Given the description of an element on the screen output the (x, y) to click on. 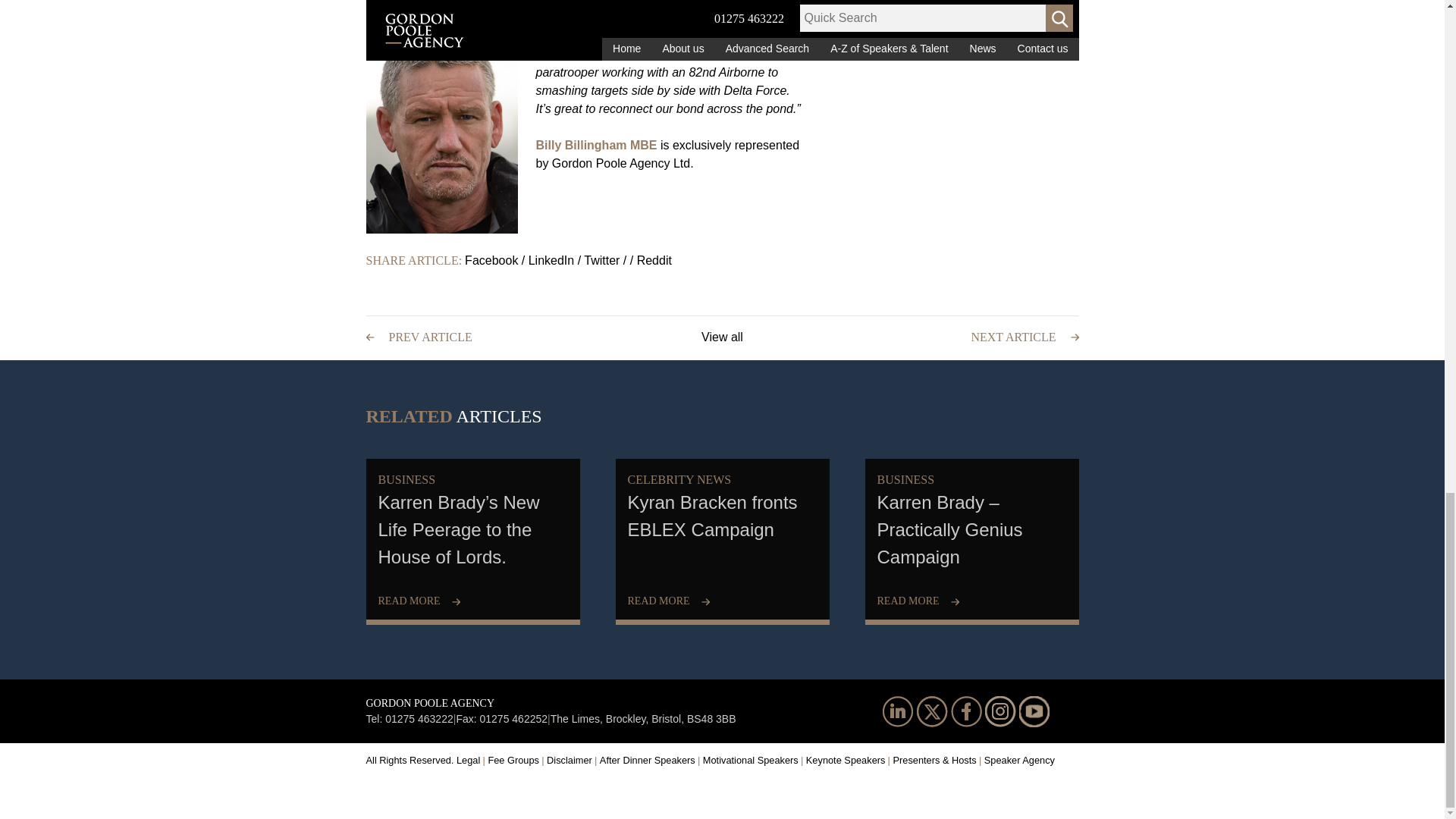
Fee Groups (515, 759)
Legal (470, 759)
Kyran Bracken fronts EBLEX Campaign (722, 538)
